Given the description of an element on the screen output the (x, y) to click on. 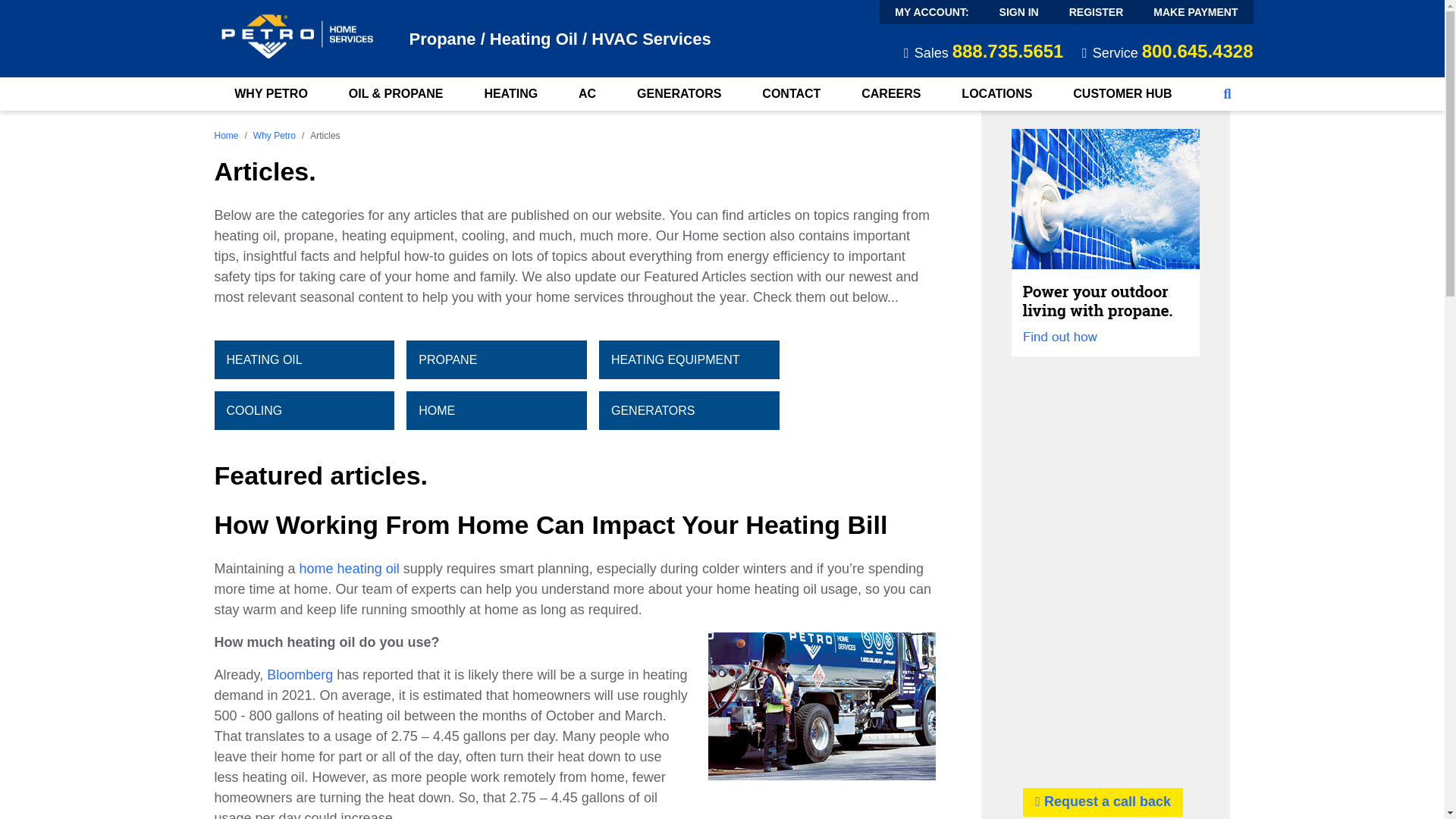
REGISTER (1096, 12)
800.645.4328 (1197, 51)
MAKE PAYMENT (1195, 12)
WHY PETRO (270, 93)
888.735.5651 (1008, 51)
SIGN IN (1019, 12)
